Given the description of an element on the screen output the (x, y) to click on. 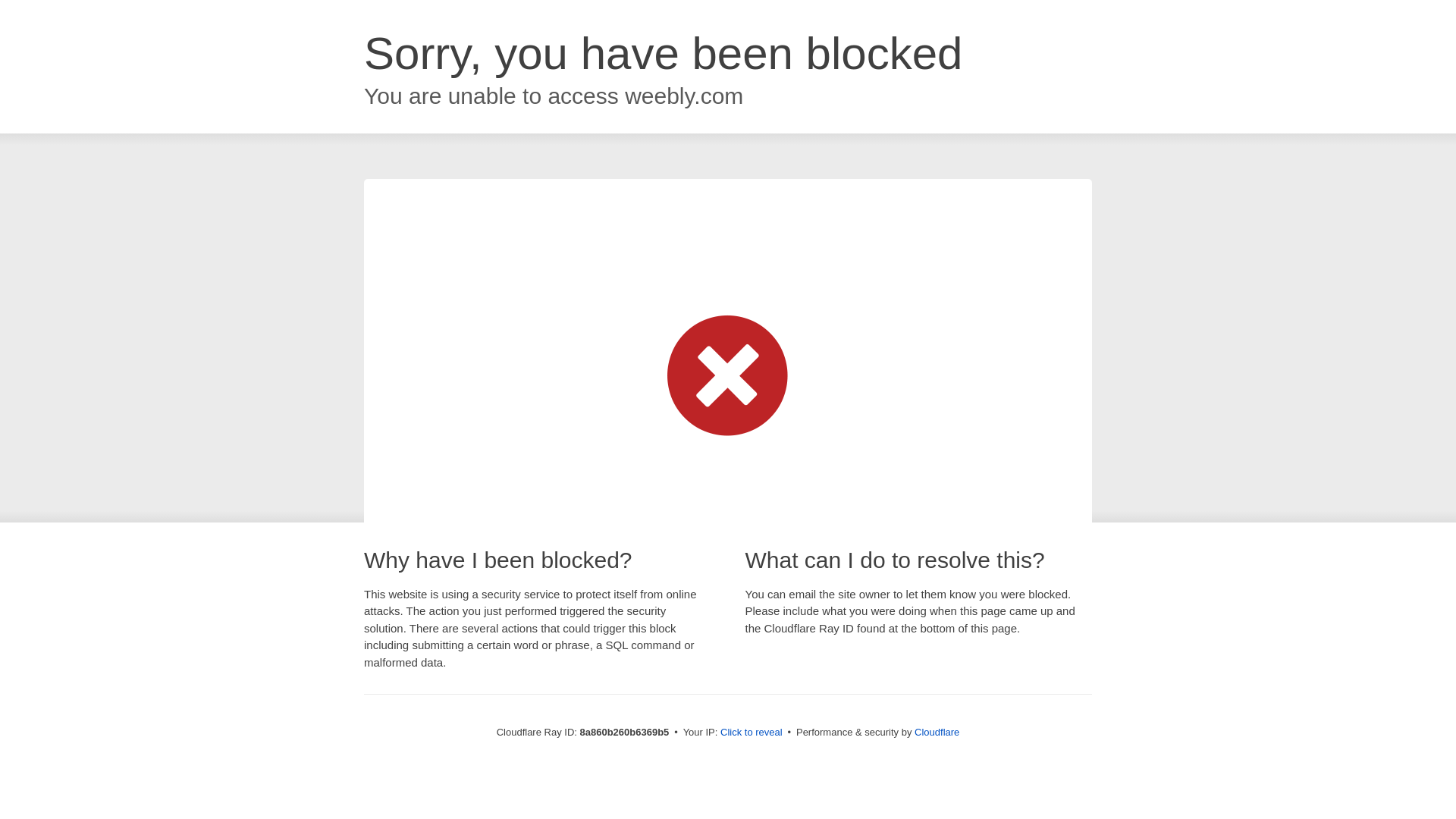
Cloudflare (936, 731)
Click to reveal (751, 732)
